Given the description of an element on the screen output the (x, y) to click on. 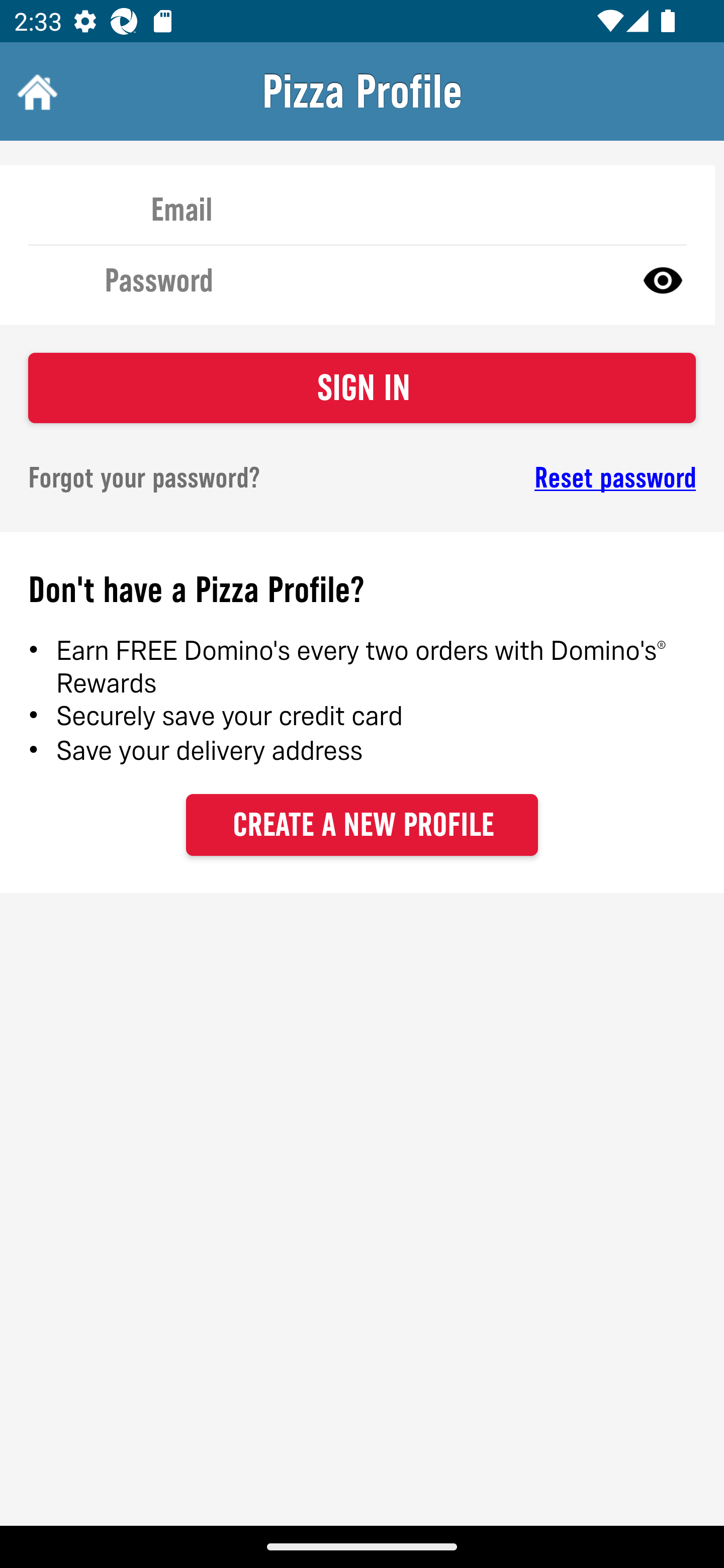
Home (35, 91)
Show Password (663, 279)
SIGN IN (361, 387)
Reset password (545, 477)
CREATE A NEW PROFILE (361, 824)
